Given the description of an element on the screen output the (x, y) to click on. 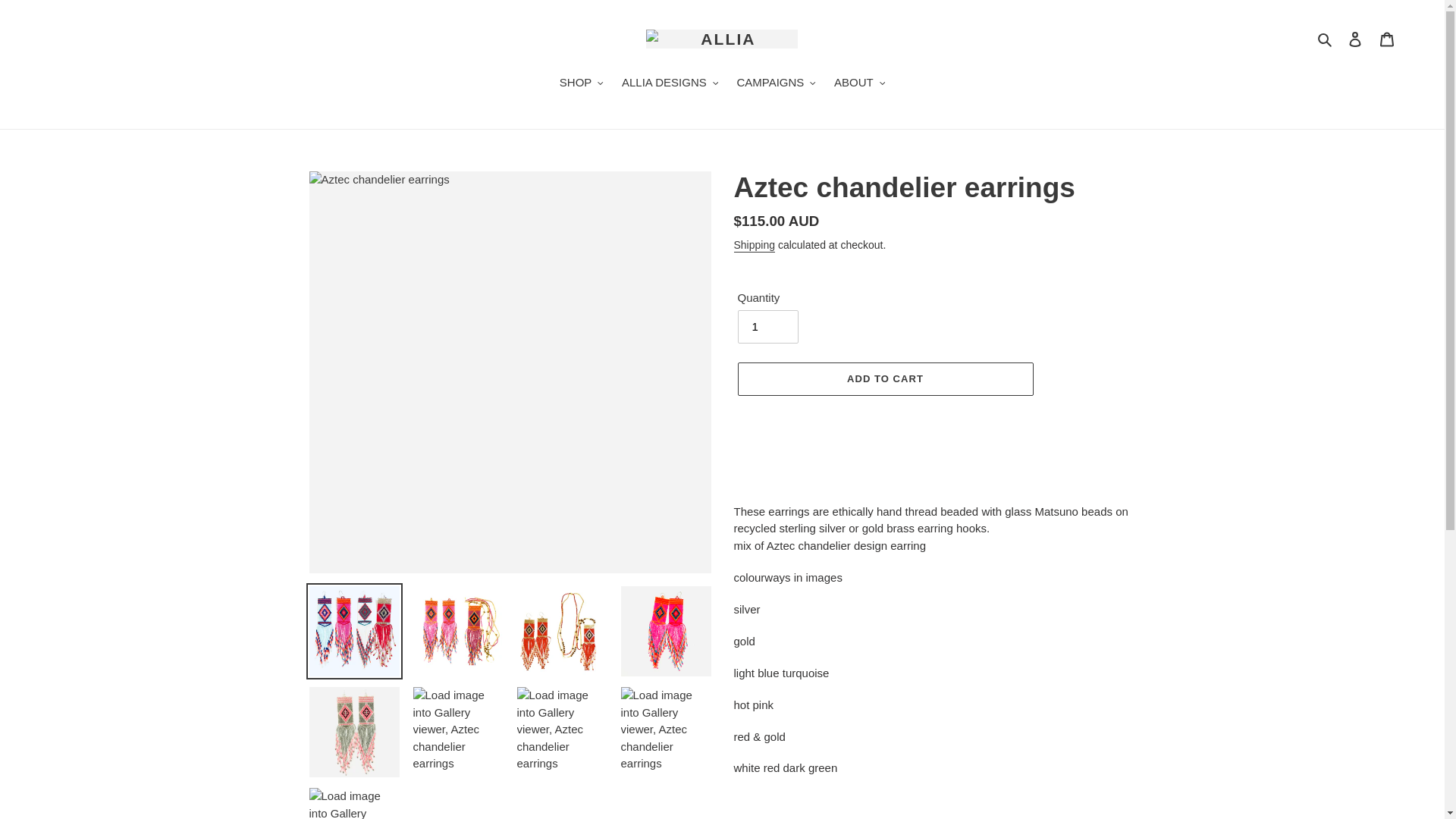
Search (1326, 38)
1 (766, 326)
Cart (1387, 38)
Log in (1355, 38)
